Given the description of an element on the screen output the (x, y) to click on. 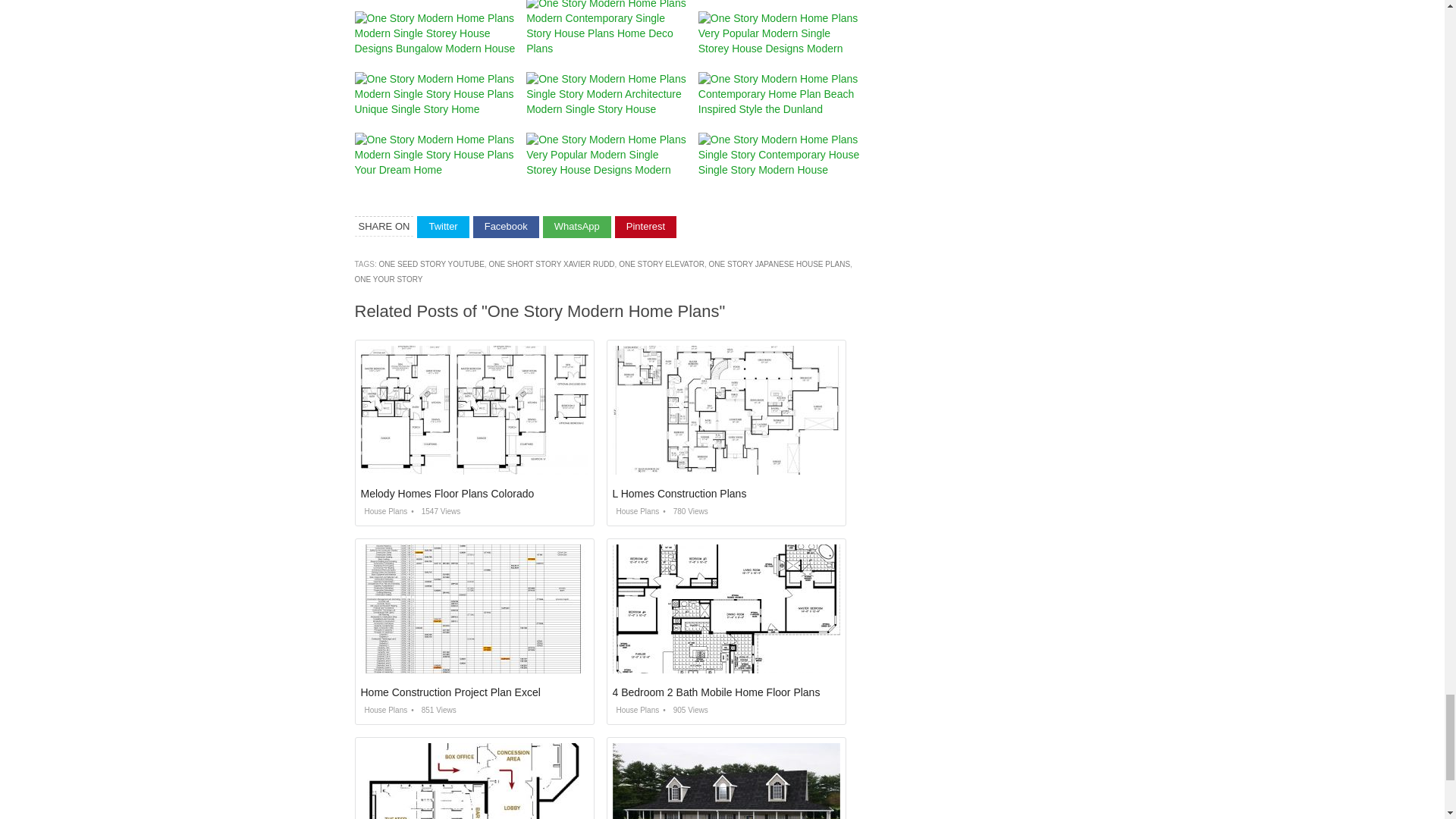
House Plans (635, 510)
WhatsApp (577, 227)
Pinterest (645, 227)
ONE STORY ELEVATOR (661, 264)
ONE YOUR STORY (389, 279)
ONE STORY JAPANESE HOUSE PLANS (779, 264)
L Homes Construction Plans (679, 493)
ONE SHORT STORY XAVIER RUDD (550, 264)
Facebook (505, 227)
ONE SEED STORY YOUTUBE (431, 264)
House Plans (384, 510)
Melody Homes Floor Plans Colorado (447, 493)
Twitter (442, 227)
